Given the description of an element on the screen output the (x, y) to click on. 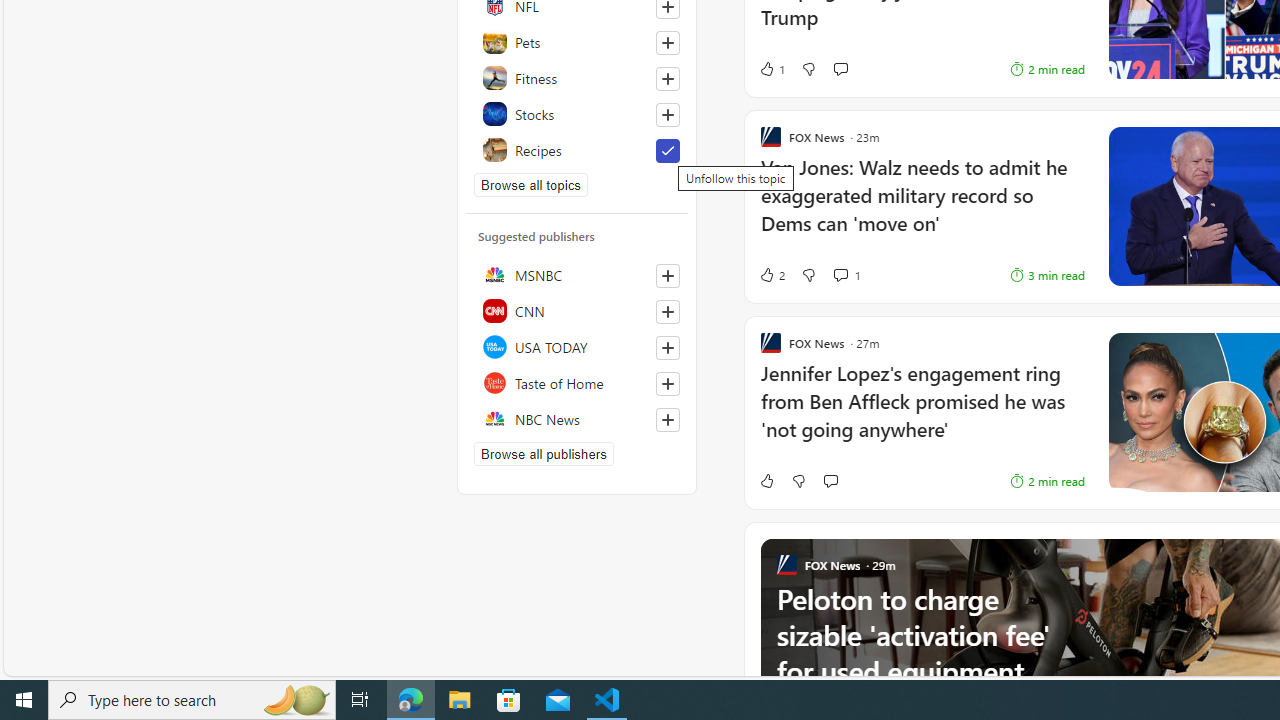
Recipes (577, 150)
Stocks (577, 114)
Taste of Home (577, 382)
Pets (577, 42)
Follow this topic (667, 114)
MSNBC (577, 274)
Browse all topics (530, 184)
